Given the description of an element on the screen output the (x, y) to click on. 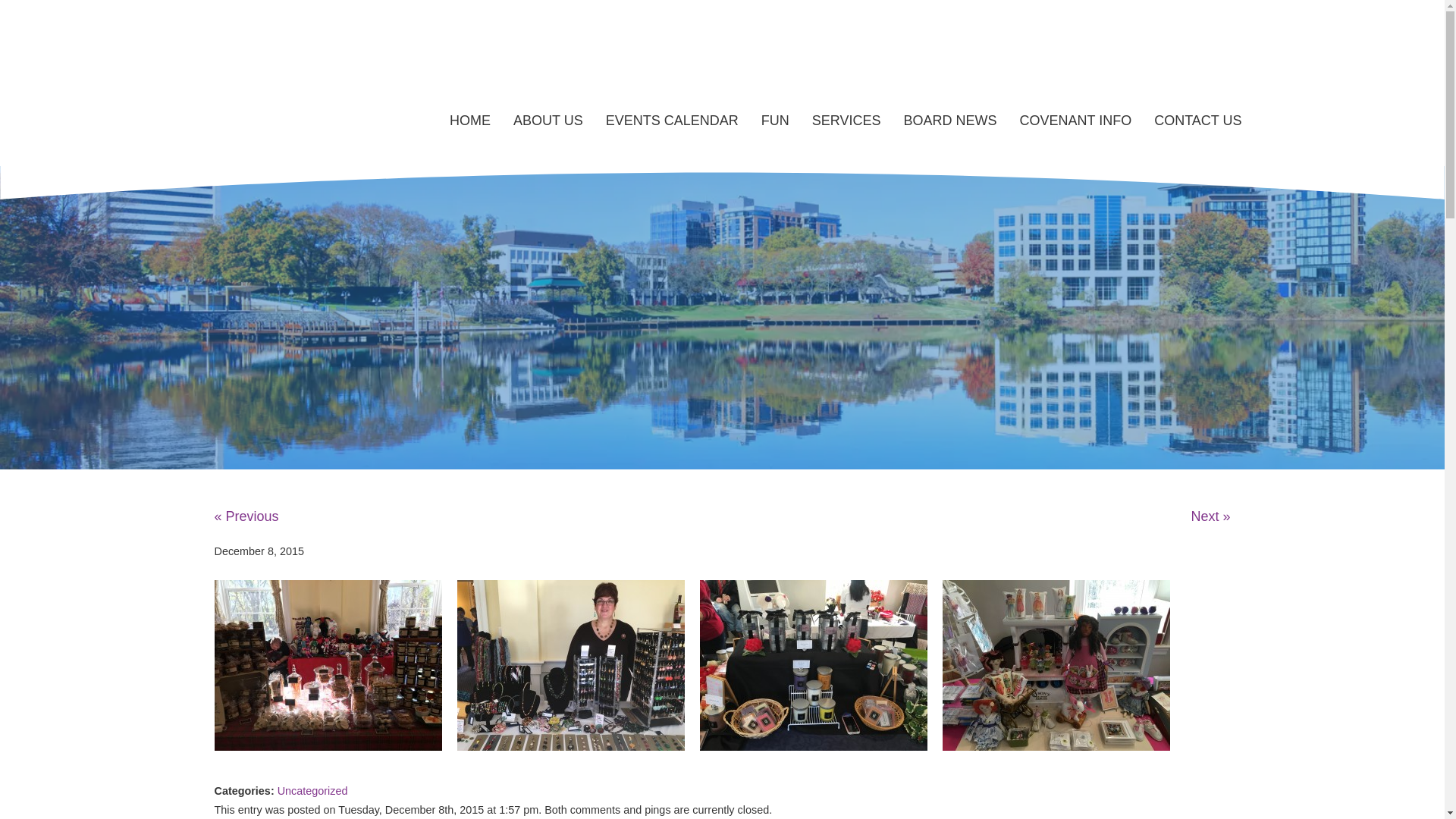
COVENANT INFO (1074, 120)
CONTACT US (1197, 120)
EVENTS CALENDAR (671, 120)
BOARD NEWS (949, 120)
ABOUT US (548, 120)
FUN (774, 120)
HOME (470, 120)
SERVICES (846, 120)
